Given the description of an element on the screen output the (x, y) to click on. 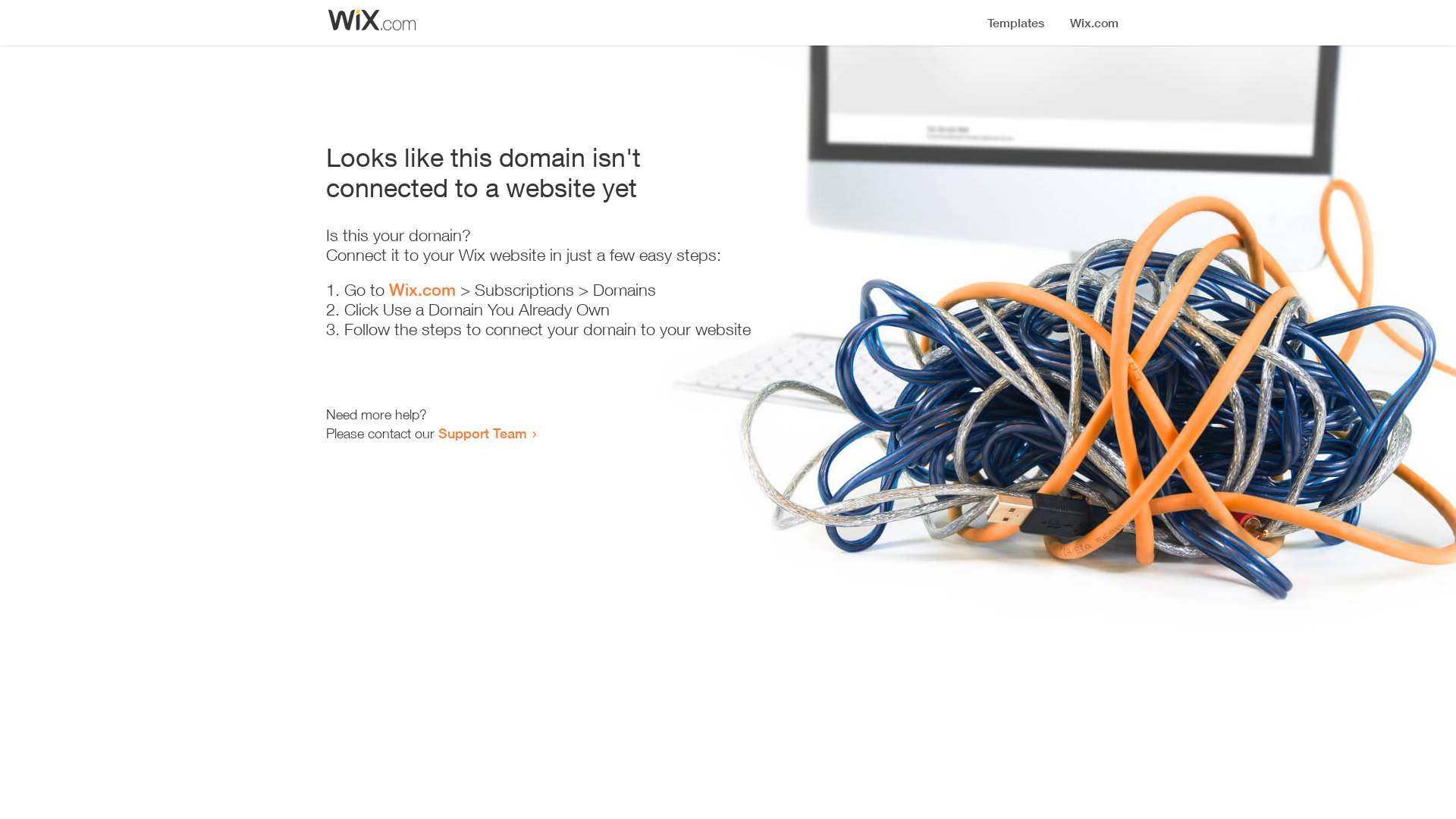
Wix.com Element type: text (422, 289)
Support Team Element type: text (482, 432)
